Given the description of an element on the screen output the (x, y) to click on. 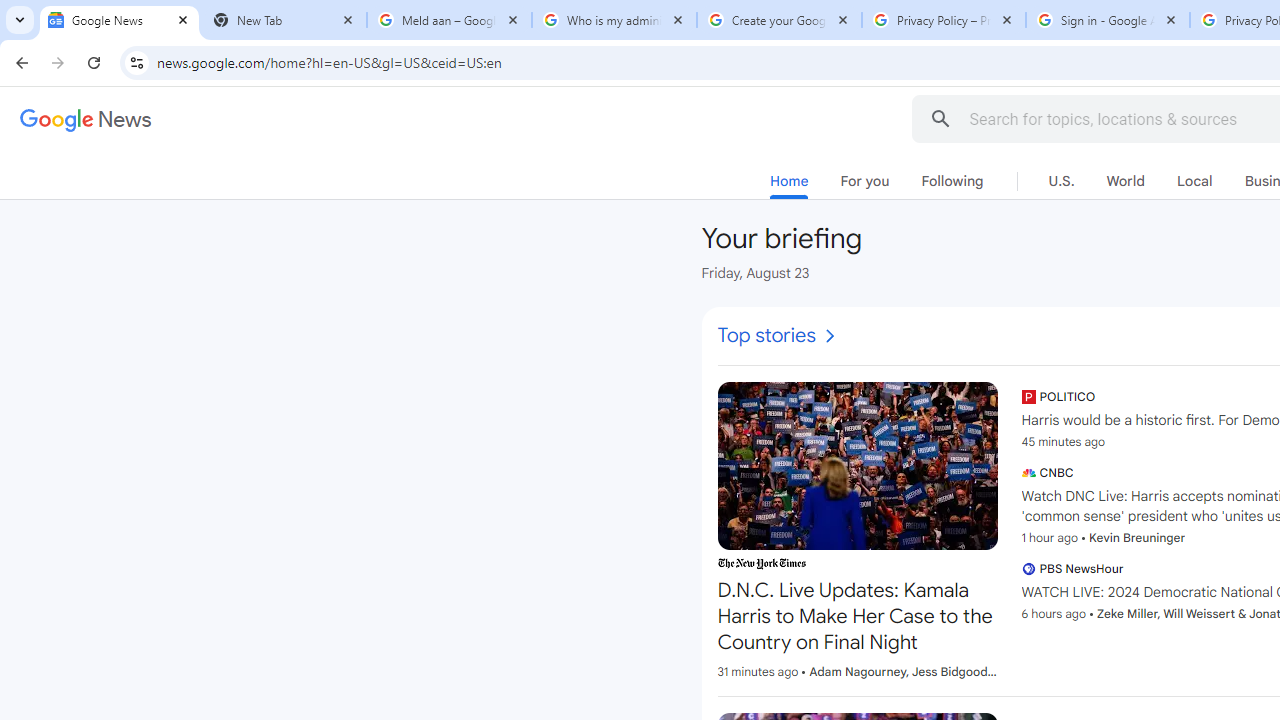
World (1125, 181)
Google News (119, 20)
New Tab (284, 20)
Home (789, 185)
Sign in - Google Accounts (1108, 20)
For you (864, 181)
Following (952, 181)
AutomationID: i10 (829, 336)
Google News (86, 120)
